Given the description of an element on the screen output the (x, y) to click on. 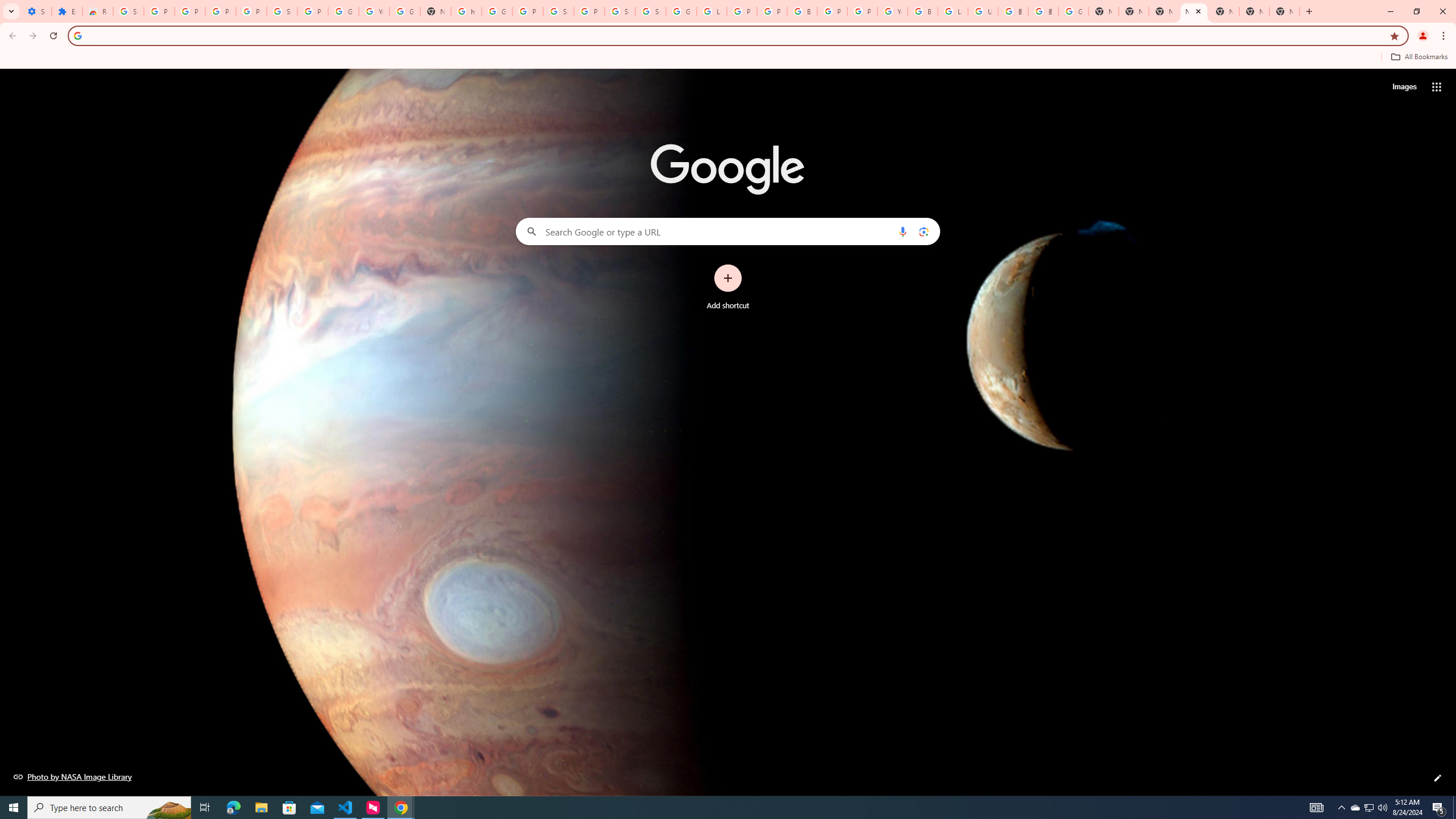
Google Images (1072, 11)
Sign in - Google Accounts (282, 11)
Search Google or type a URL (727, 230)
Sign in - Google Accounts (619, 11)
